Given the description of an element on the screen output the (x, y) to click on. 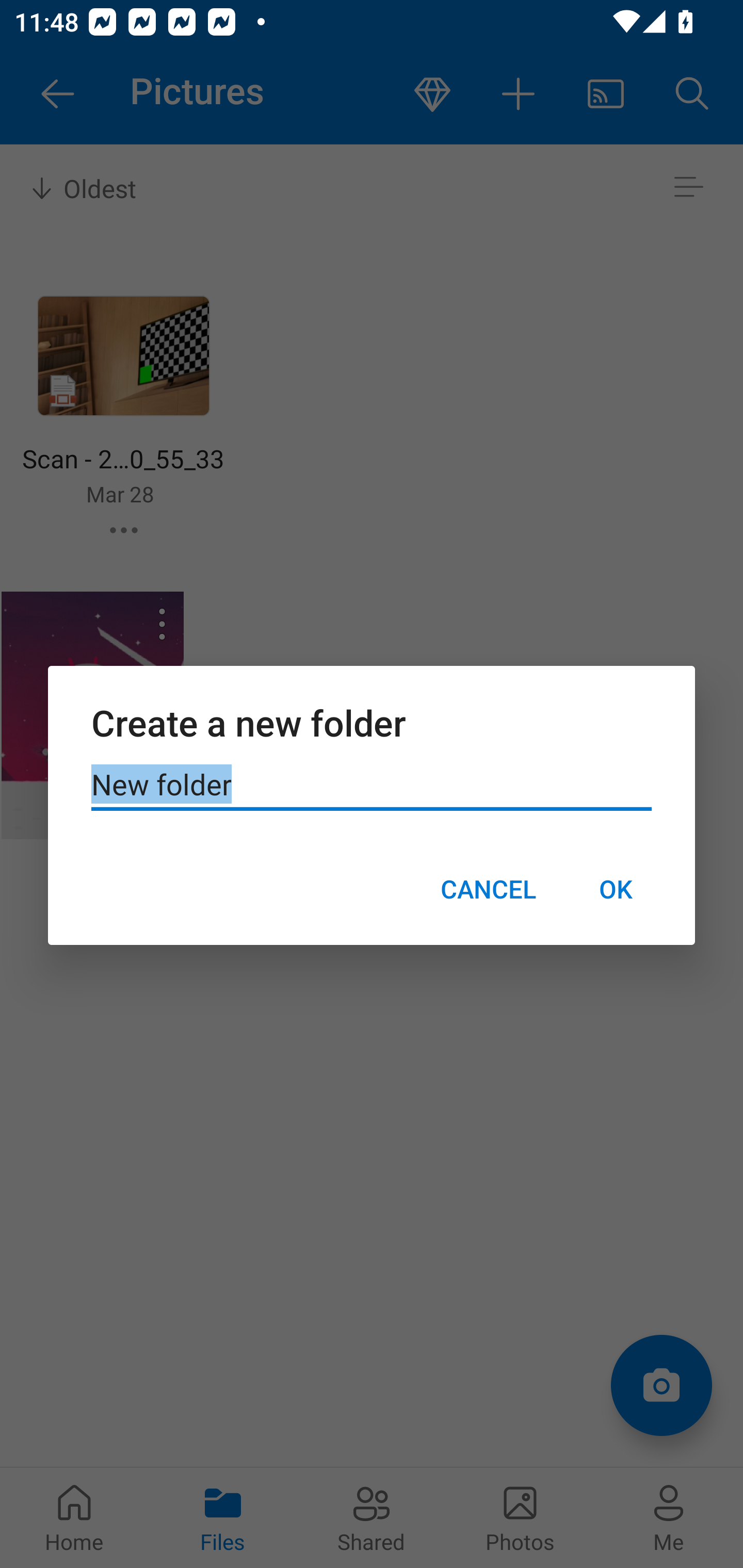
New folder (371, 784)
CANCEL (488, 888)
OK (615, 888)
